Given the description of an element on the screen output the (x, y) to click on. 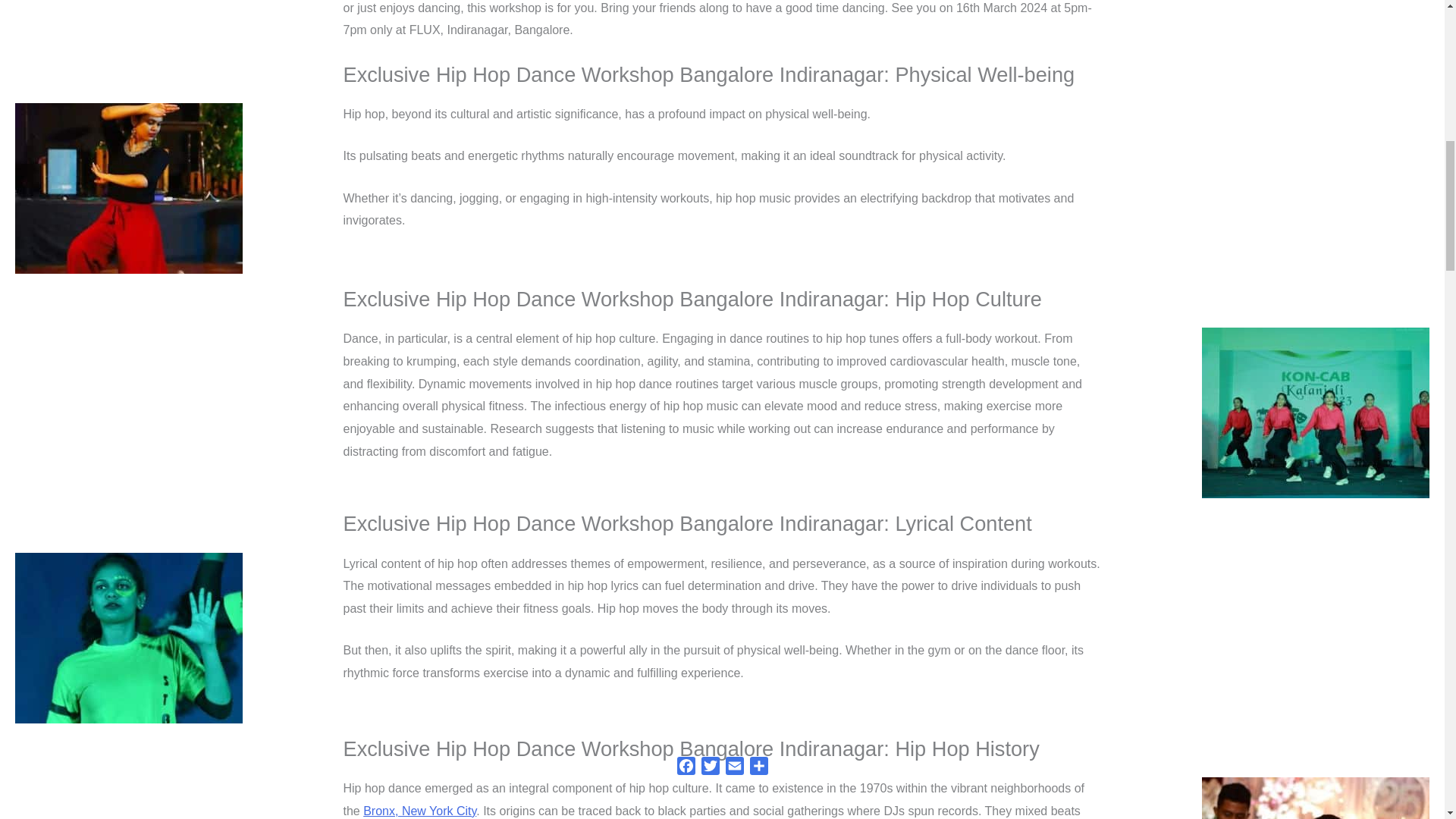
Exclusive Hip Hop Dance Workshop Bangalore Indiranagar (128, 188)
Exclusive Hip Hop Dance Workshop Bangalore Indiranagar (1315, 412)
Exclusive Hip Hop Dance Workshop Bangalore Indiranagar (128, 637)
Exclusive Hip Hop Dance Workshop Bangalore Indiranagar (1315, 798)
